Given the description of an element on the screen output the (x, y) to click on. 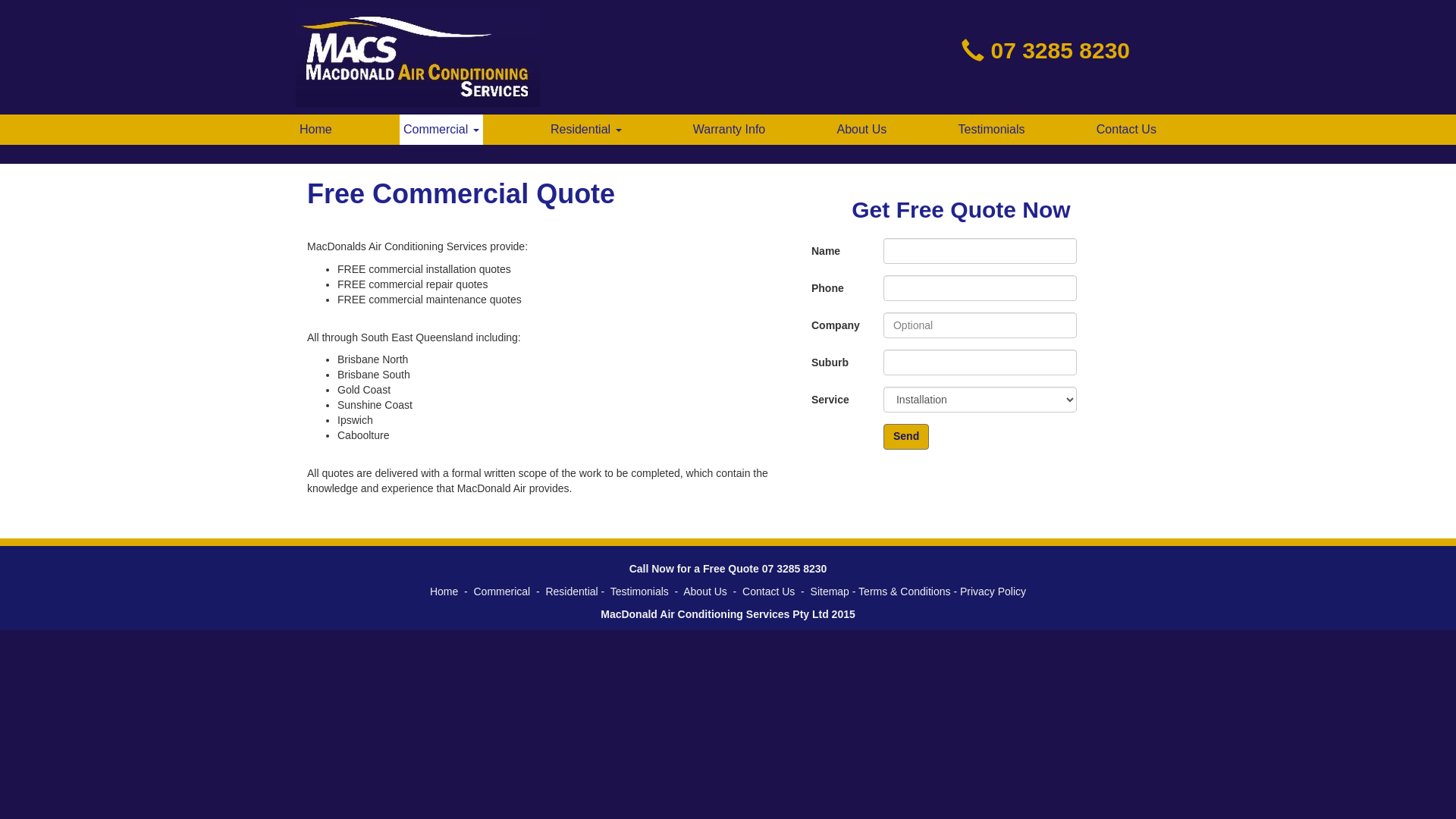
Sitemap Element type: text (829, 591)
Macs Air Con Logo Element type: hover (417, 56)
Send Element type: text (905, 436)
Residential Element type: text (585, 129)
Residential Element type: text (571, 591)
Home Element type: text (443, 591)
Warranty Info Element type: text (728, 129)
Testimonials Element type: text (639, 591)
Contact Us Element type: text (1126, 129)
About Us Element type: text (705, 591)
Commerical Element type: text (501, 591)
Terms & Conditions Element type: text (904, 591)
Privacy Policy Element type: text (993, 591)
07 3285 8230 Element type: text (1059, 49)
About Us Element type: text (861, 129)
Testimonials Element type: text (991, 129)
Contact Us Element type: text (768, 591)
Commercial Element type: text (441, 129)
Home Element type: text (315, 129)
